Given the description of an element on the screen output the (x, y) to click on. 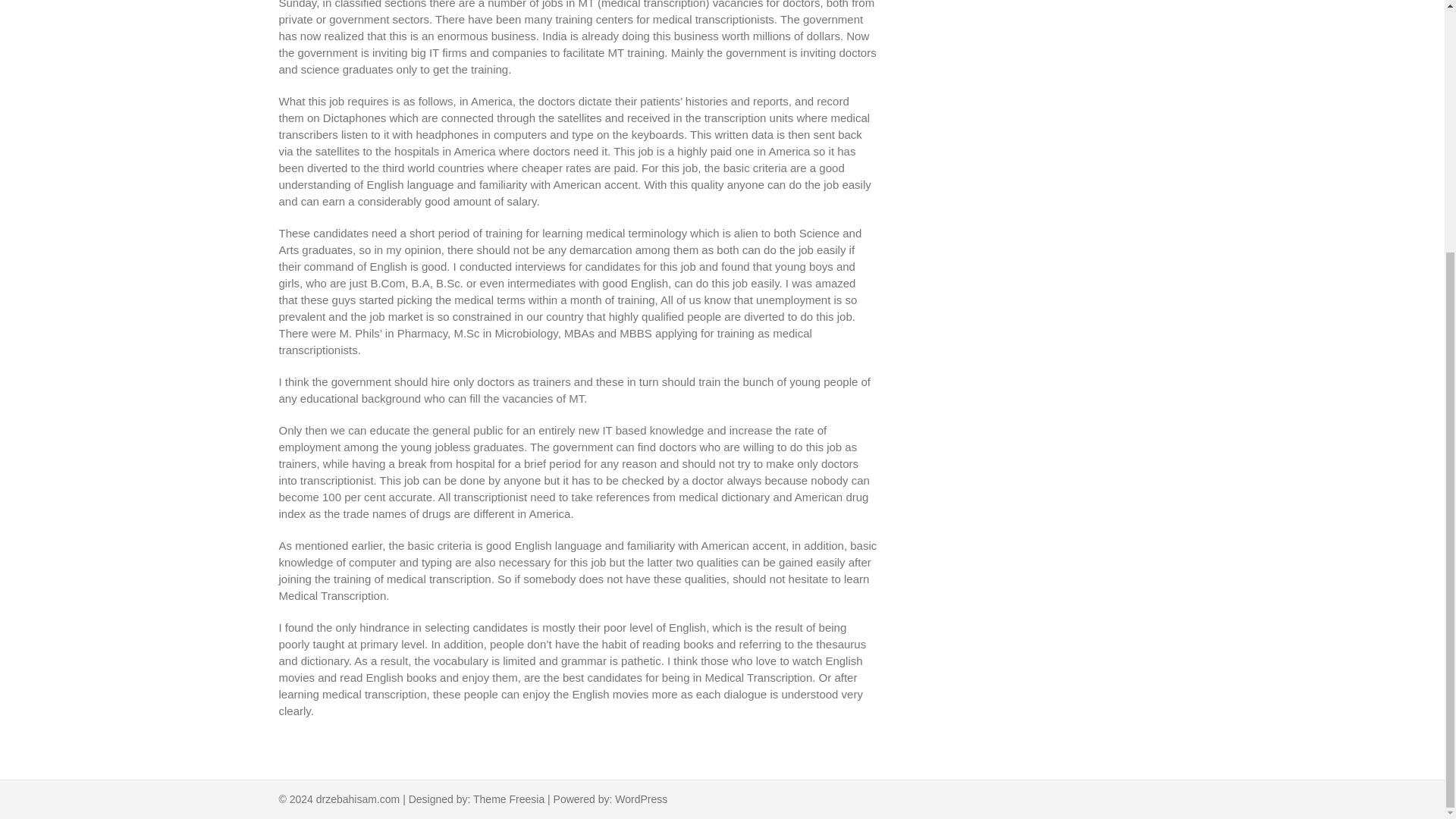
drzebahisam.com (357, 799)
WordPress (640, 799)
WordPress (640, 799)
Theme Freesia (508, 799)
drzebahisam.com (357, 799)
Themefreesia (508, 799)
